Given the description of an element on the screen output the (x, y) to click on. 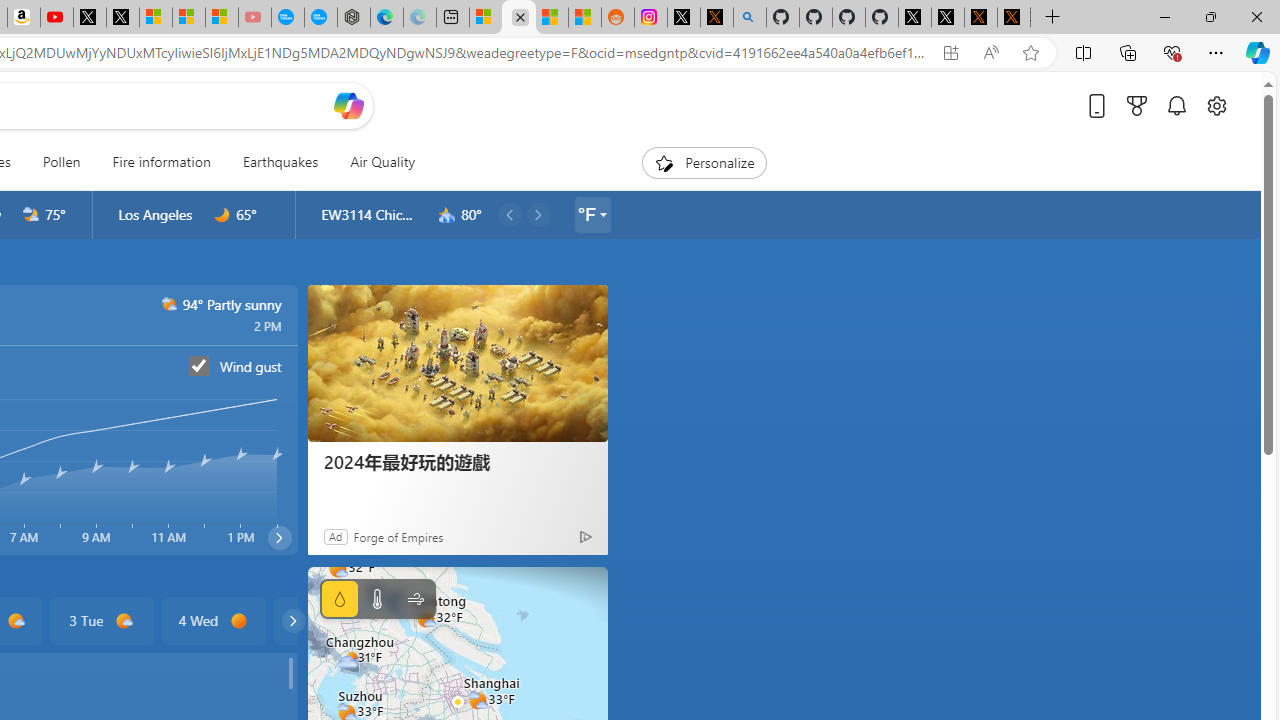
d2000 (169, 303)
5 Thu d1000 (324, 620)
Gloom - YouTube - Sleeping (255, 17)
